Given the description of an element on the screen output the (x, y) to click on. 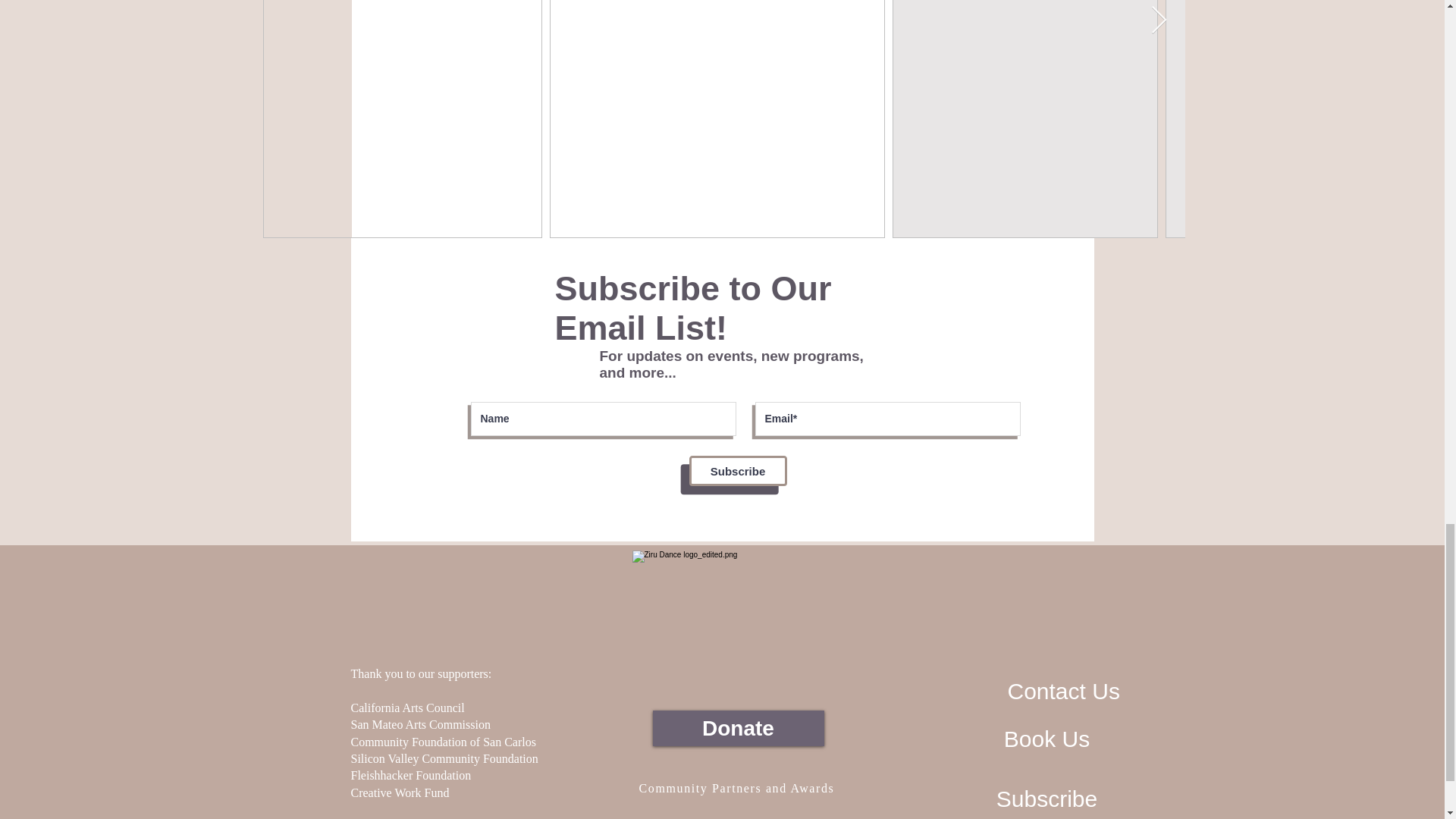
Community Partners and Awards (738, 788)
Subscribe (1046, 798)
Subscribe (737, 470)
Book Us (1047, 738)
Contact Us (1063, 691)
Donate (738, 728)
